Given the description of an element on the screen output the (x, y) to click on. 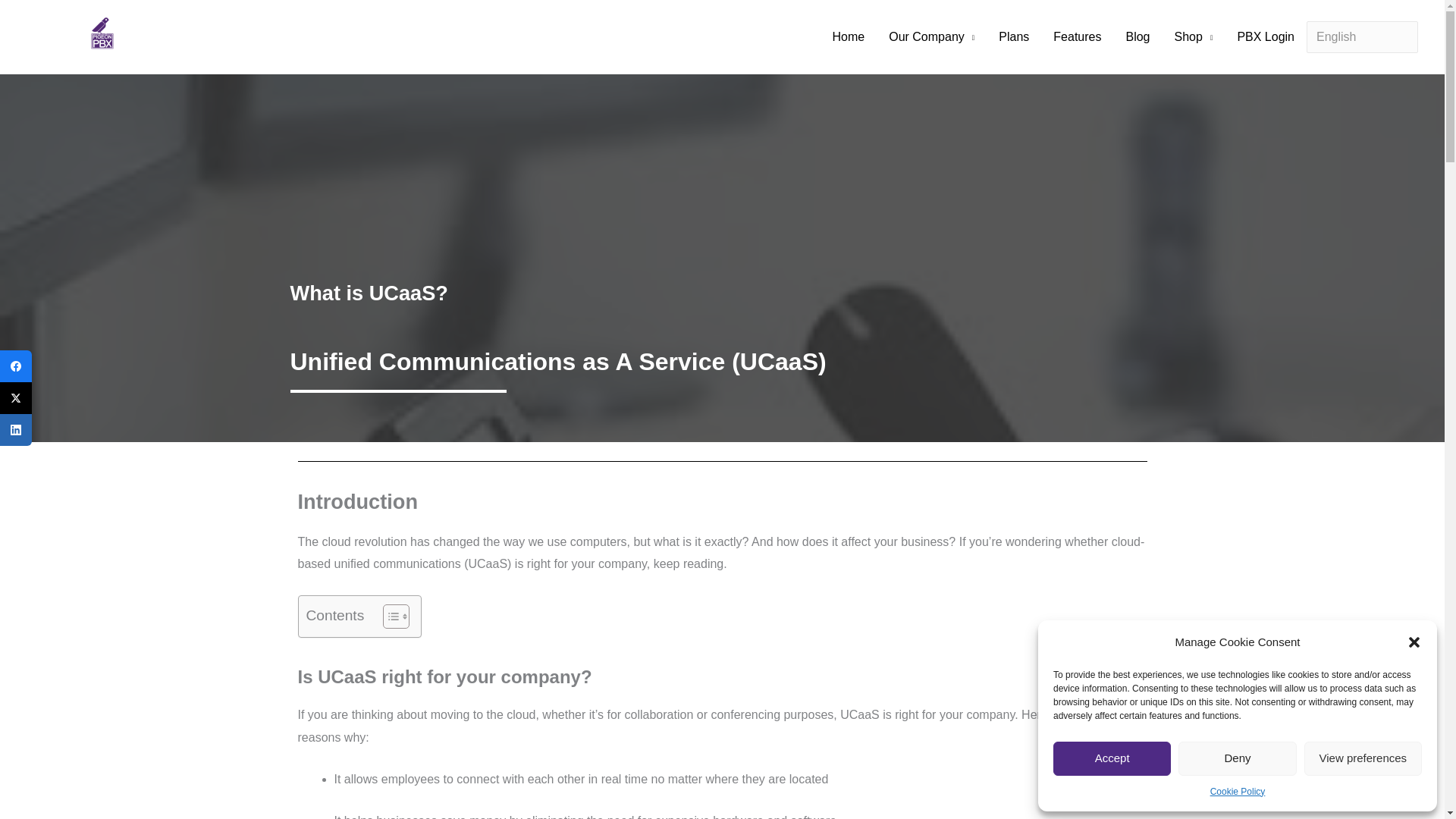
Telephony (151, 42)
Our Company (931, 37)
David Omondiagbe (260, 42)
Features (1077, 37)
Deny (1236, 758)
View all posts by David Omondiagbe (260, 42)
Leave a Comment (64, 42)
View preferences (1363, 758)
PBX Login (1265, 37)
Accept (1111, 758)
Cookie Policy (1237, 791)
